Given the description of an element on the screen output the (x, y) to click on. 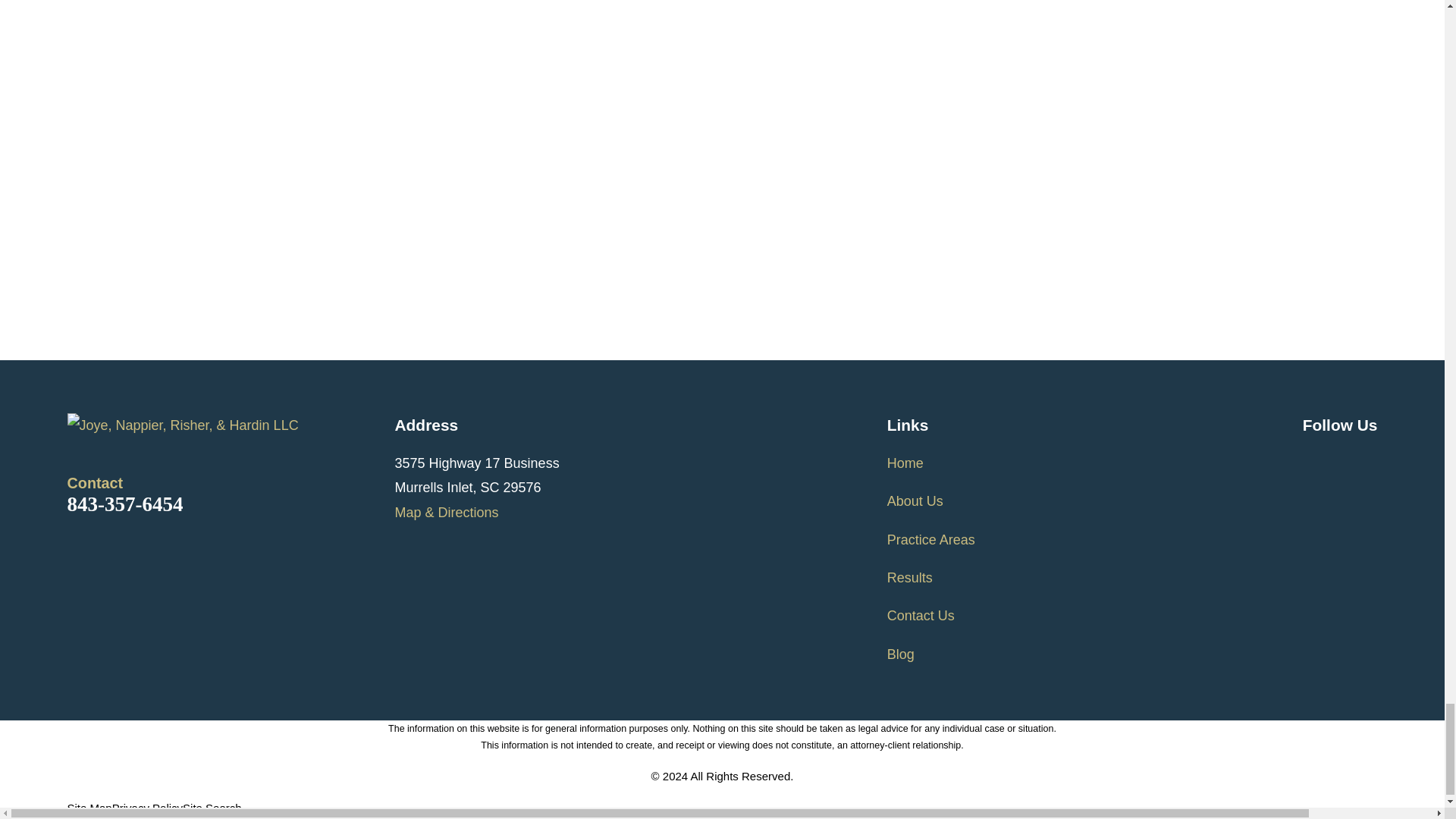
Google Business Profile (1312, 460)
Facebook (1351, 460)
Home (230, 425)
